Given the description of an element on the screen output the (x, y) to click on. 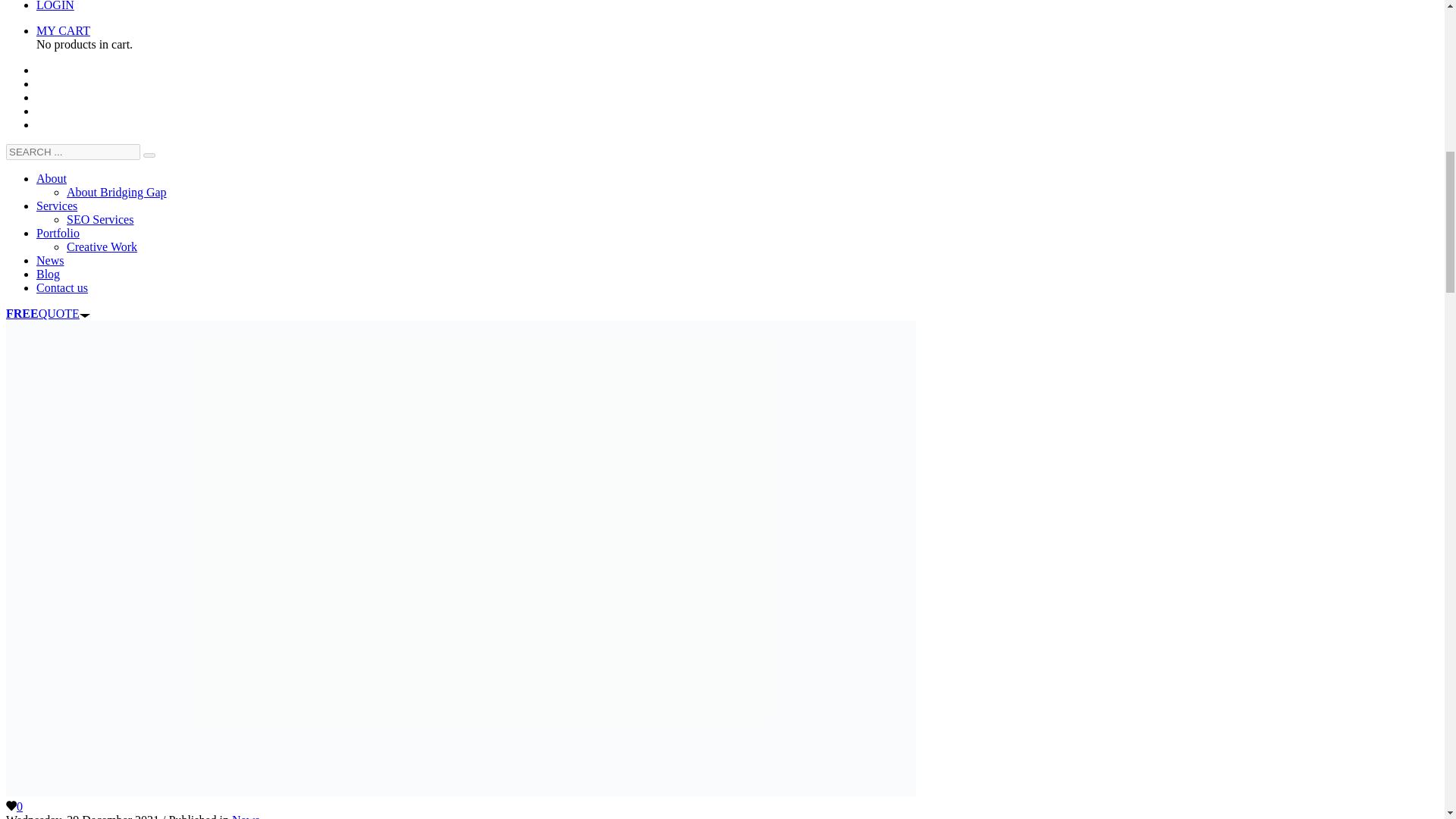
Contact us (61, 287)
About Bridging Gap (116, 192)
News (50, 259)
Services (56, 205)
MY CART (63, 30)
SEO Services (99, 219)
View your shopping cart (63, 30)
FREEQUOTE (47, 313)
Creative Work (101, 246)
go (148, 155)
News (245, 816)
0 (14, 806)
About (51, 178)
Blog (47, 273)
LOGIN (55, 5)
